Given the description of an element on the screen output the (x, y) to click on. 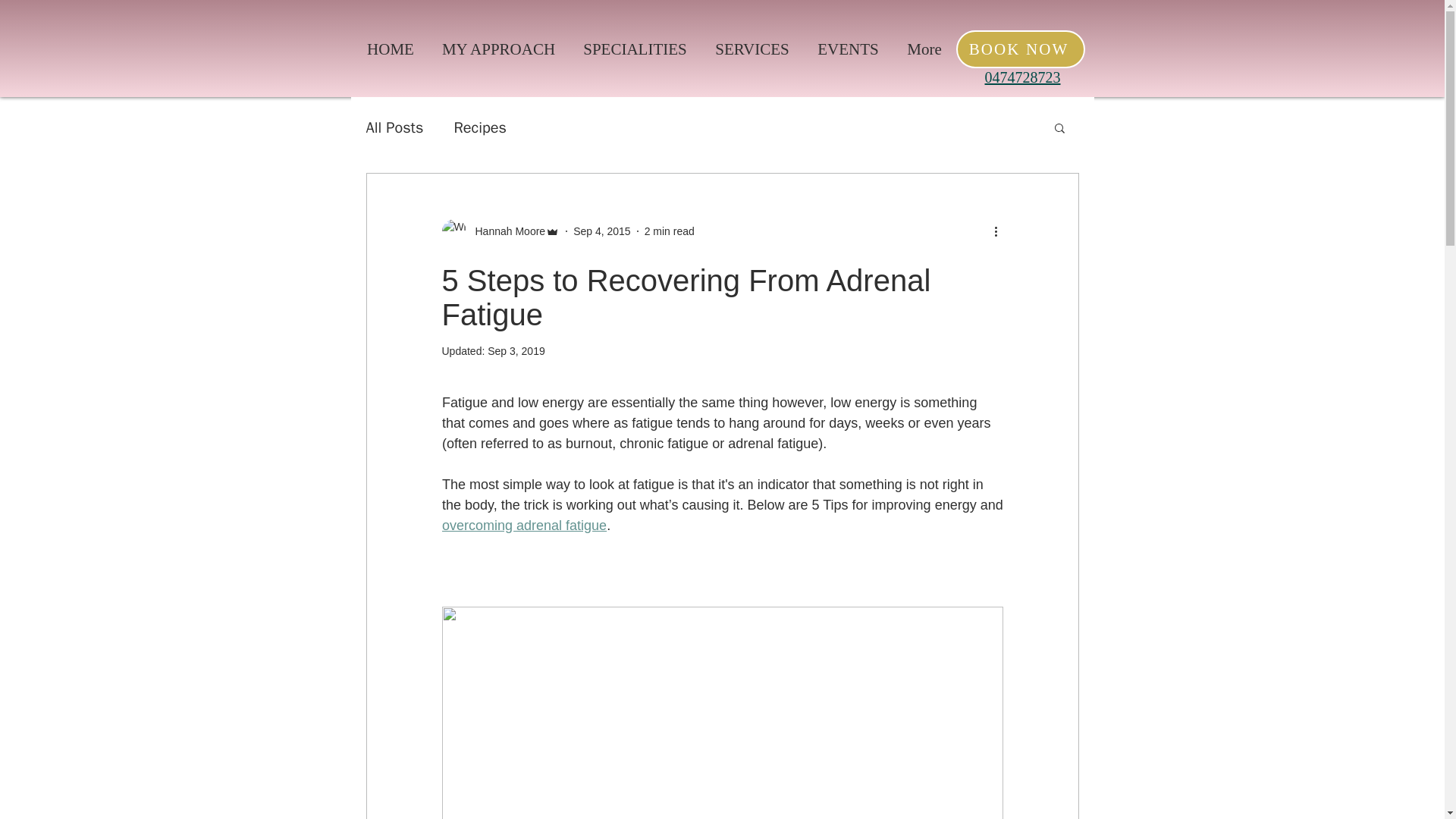
Sep 4, 2015 (601, 230)
All Posts (394, 127)
SPECIALITIES (634, 48)
SERVICES (751, 48)
MY APPROACH (498, 48)
EVENTS (848, 48)
BOOK NOW (1019, 48)
Sep 3, 2019 (515, 350)
0474728723 (1021, 76)
Hannah Moore (500, 231)
